Given the description of an element on the screen output the (x, y) to click on. 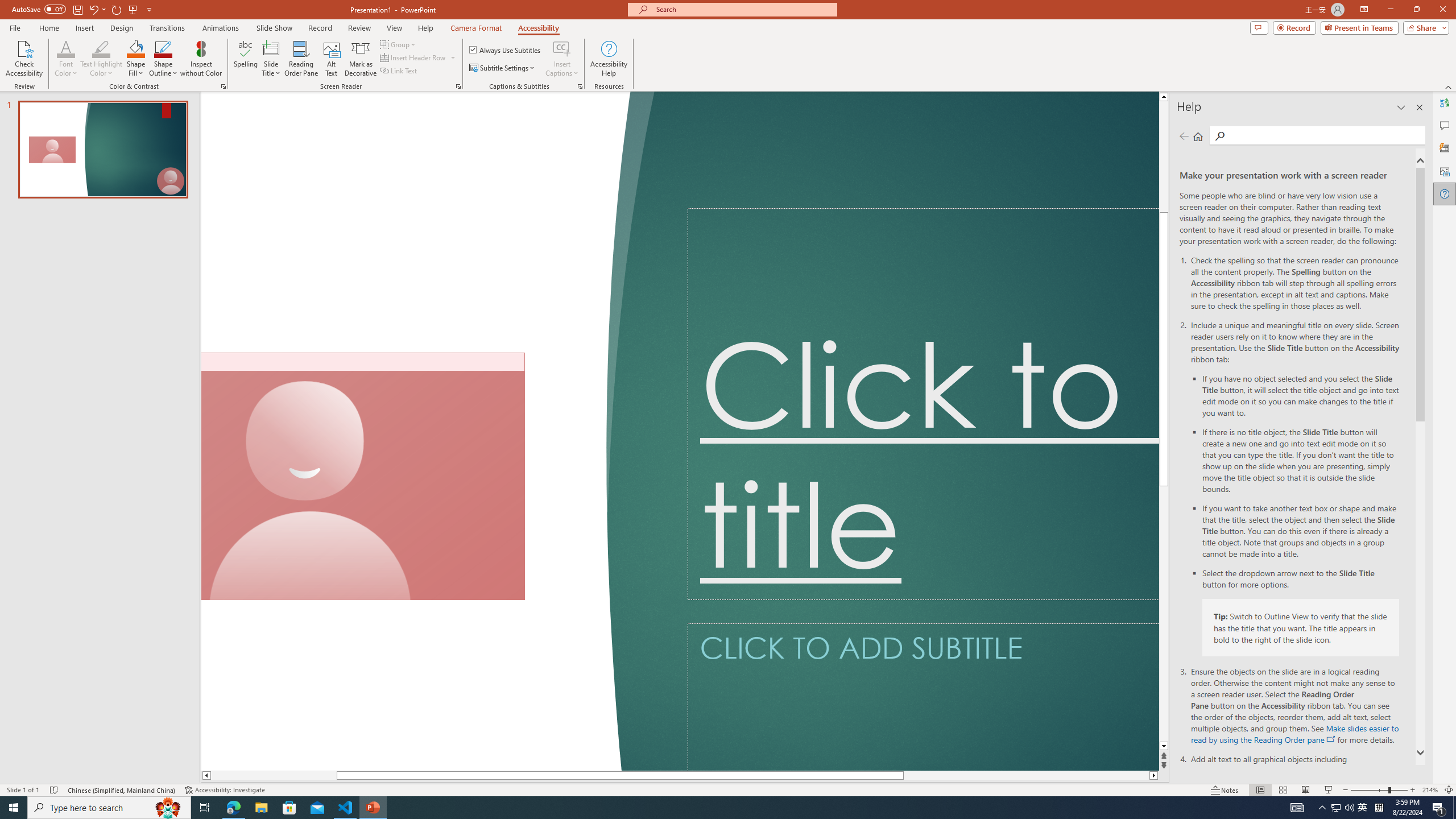
Link Text (399, 69)
Mark as Decorative (360, 58)
Camera 7, No camera detected. (362, 476)
Camera Format (475, 28)
